Given the description of an element on the screen output the (x, y) to click on. 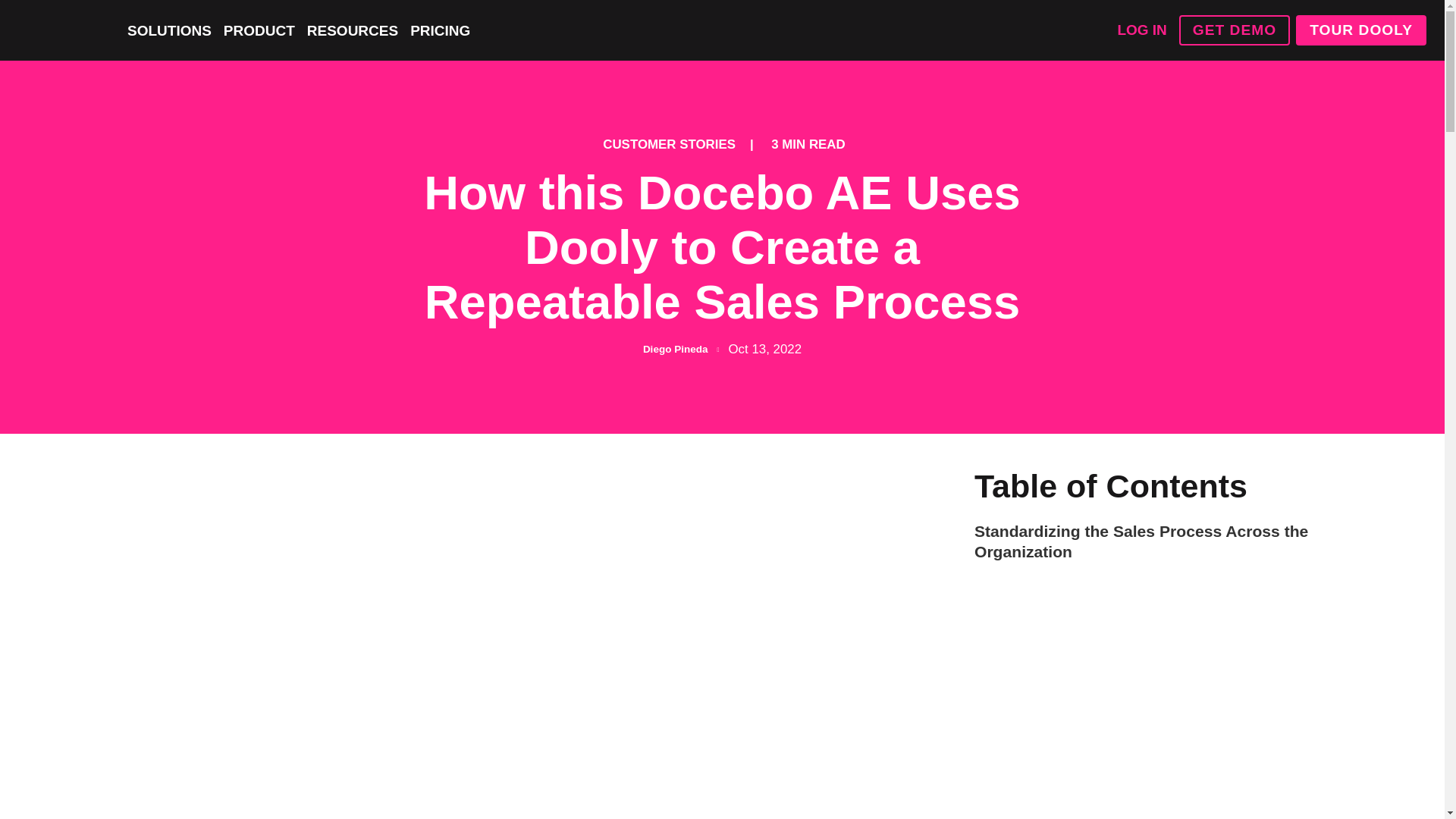
RESOURCES (352, 29)
PRICING (440, 29)
SOLUTIONS (169, 29)
PRODUCT (259, 29)
